Given the description of an element on the screen output the (x, y) to click on. 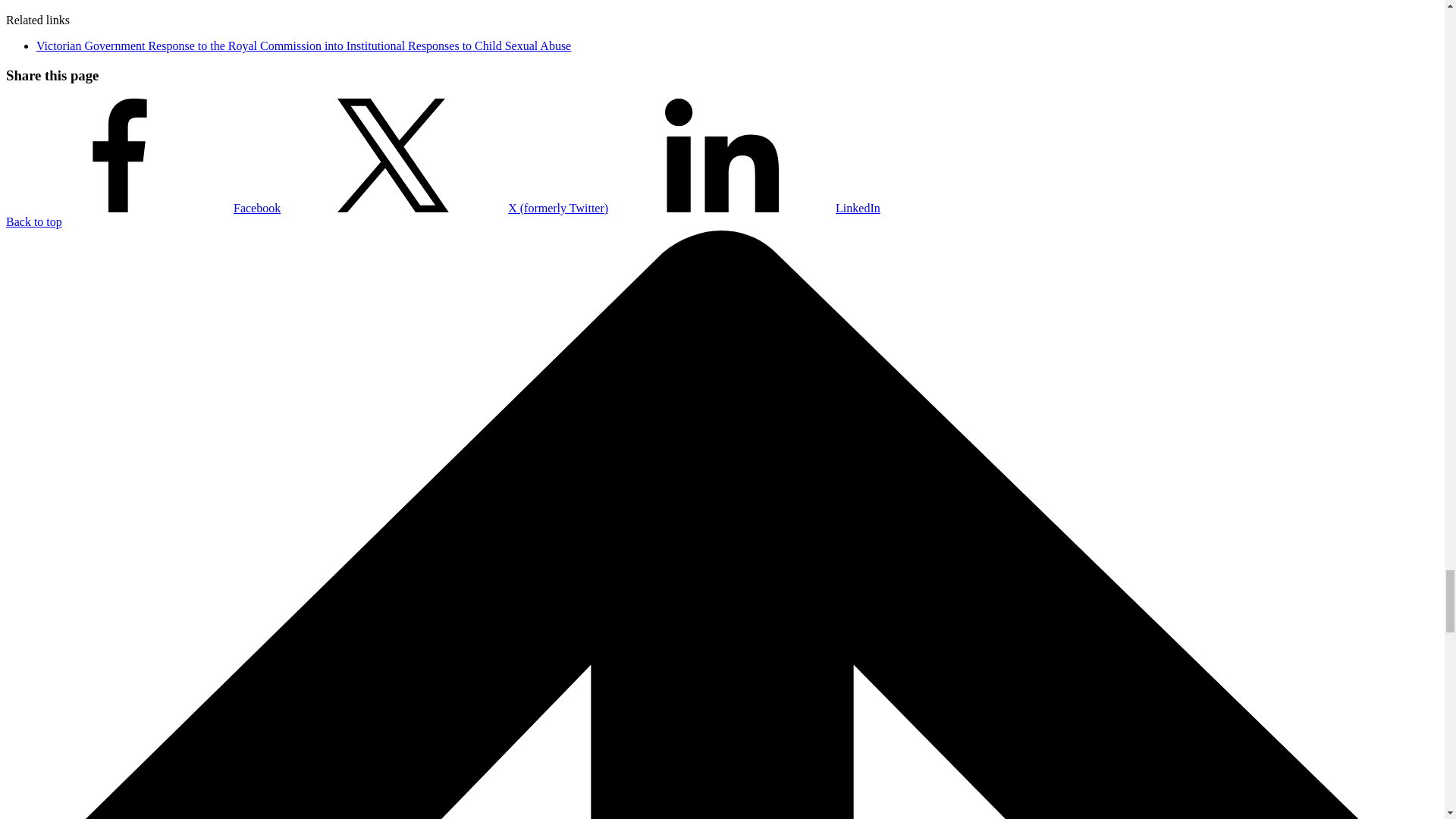
LinkedIn (744, 207)
Facebook (143, 207)
